Given the description of an element on the screen output the (x, y) to click on. 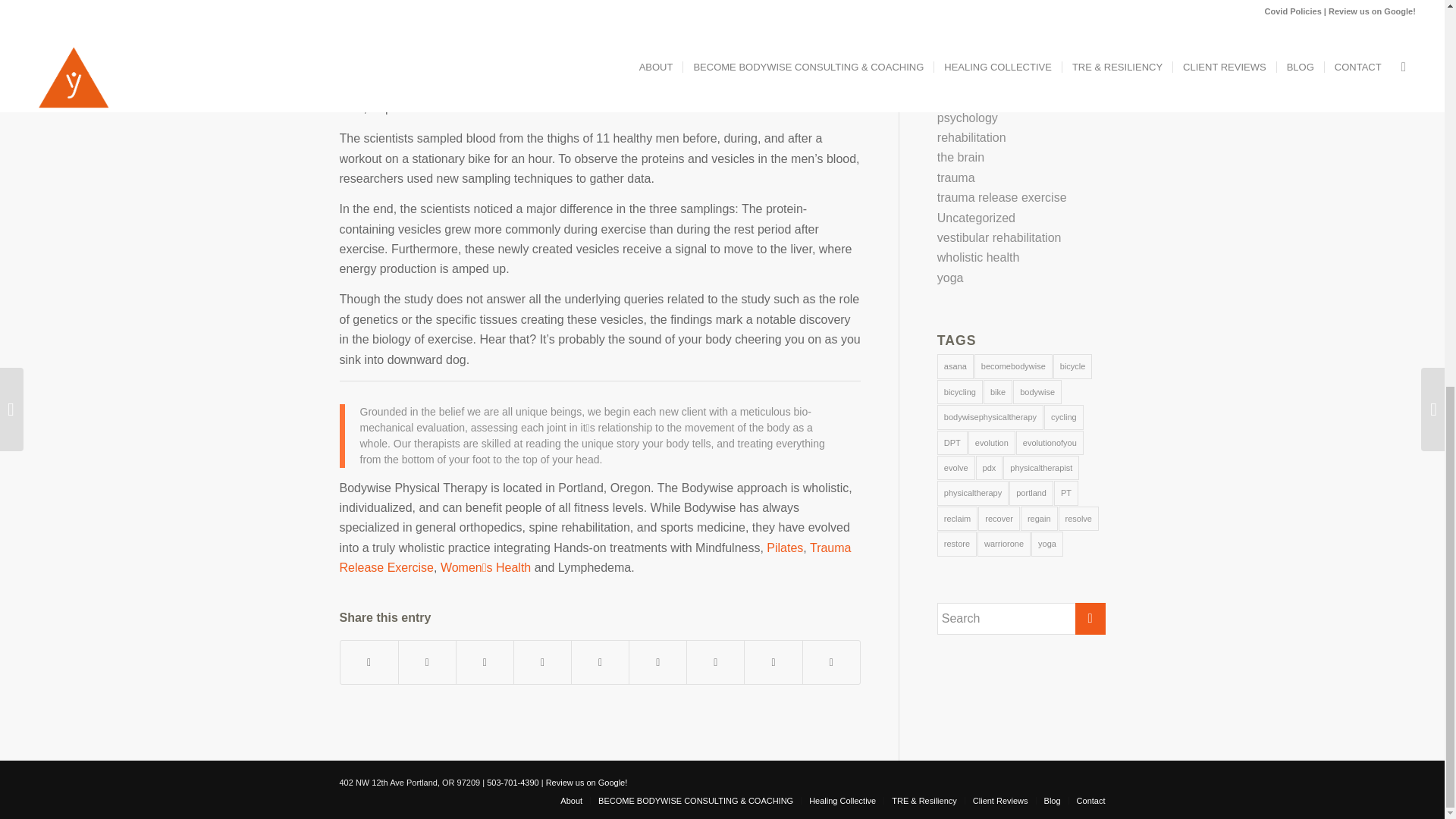
Pilates (785, 547)
New York Times (479, 107)
Trauma Release Exercise (595, 557)
